Given the description of an element on the screen output the (x, y) to click on. 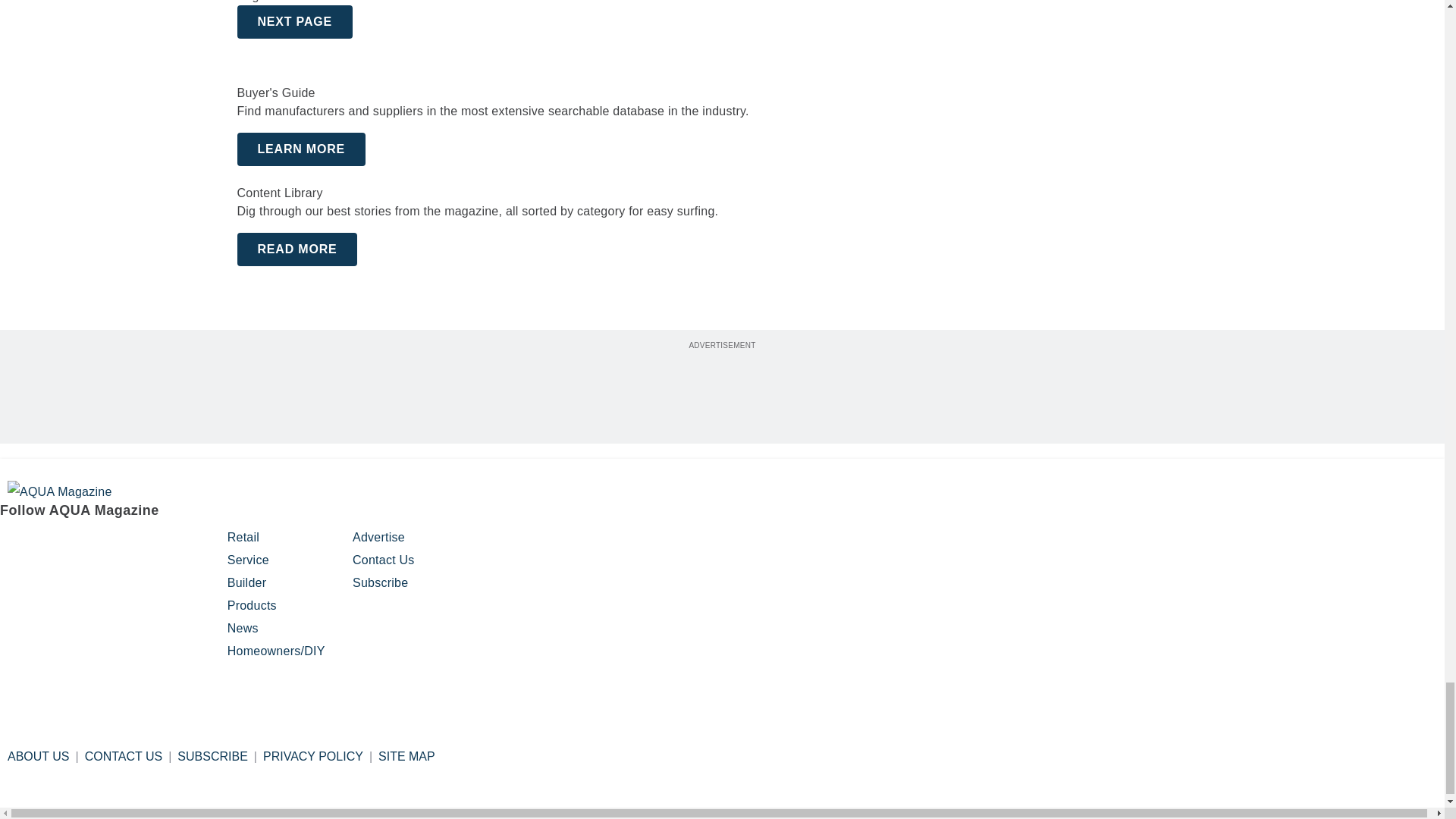
Twitter X icon (129, 543)
LinkedIn icon (172, 543)
Facebook icon (13, 543)
Pinterest icon (90, 543)
Instagram icon (52, 543)
